Given the description of an element on the screen output the (x, y) to click on. 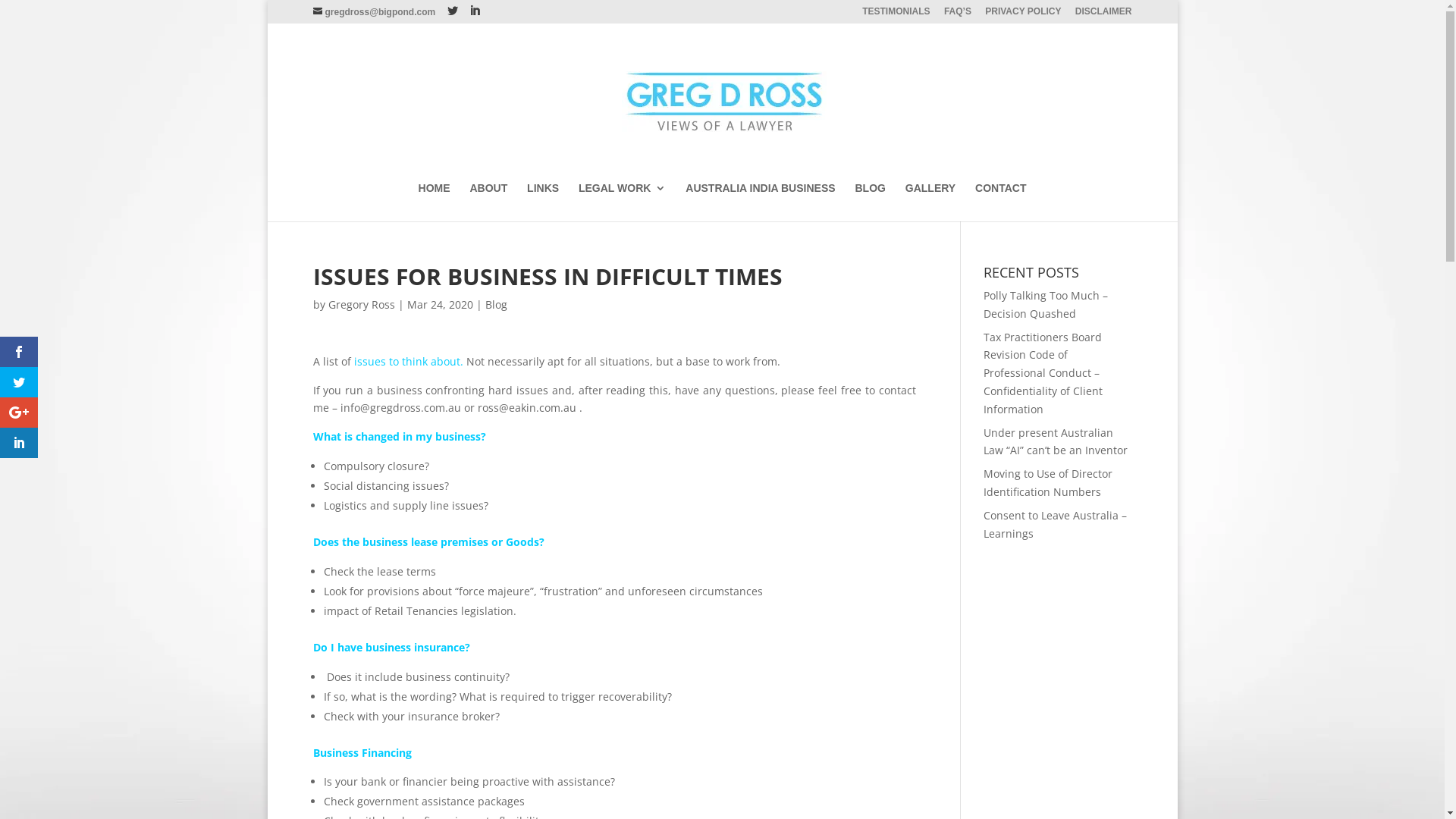
AUSTRALIA INDIA BUSINESS Element type: text (759, 201)
GALLERY Element type: text (930, 201)
CONTACT Element type: text (1000, 201)
DISCLAIMER Element type: text (1103, 14)
LINKS Element type: text (542, 201)
TESTIMONIALS Element type: text (895, 14)
LEGAL WORK Element type: text (621, 201)
gregdross@bigpond.com Element type: text (373, 11)
HOME Element type: text (434, 201)
Gregory Ross Element type: text (360, 304)
ABOUT Element type: text (488, 201)
PRIVACY POLICY Element type: text (1022, 14)
Moving to Use of Director Identification Numbers Element type: text (1047, 482)
Blog Element type: text (496, 304)
BLOG Element type: text (869, 201)
